Given the description of an element on the screen output the (x, y) to click on. 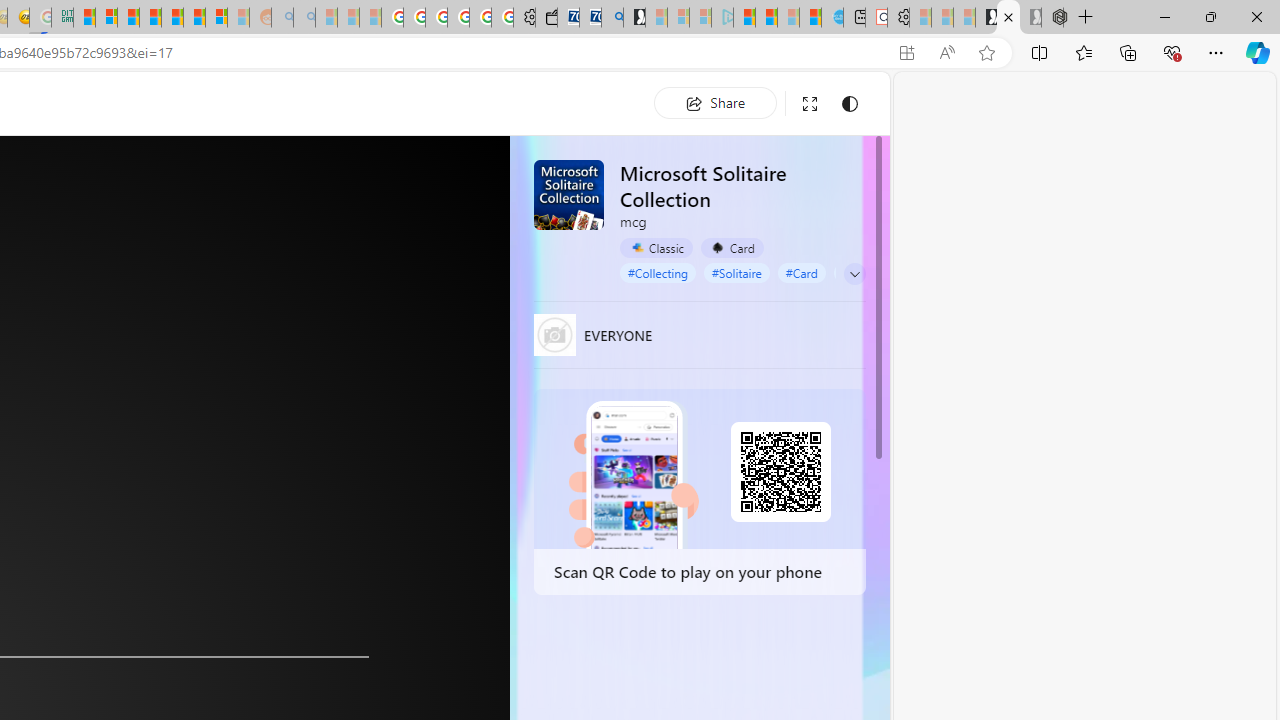
Class: control (855, 273)
